Given the description of an element on the screen output the (x, y) to click on. 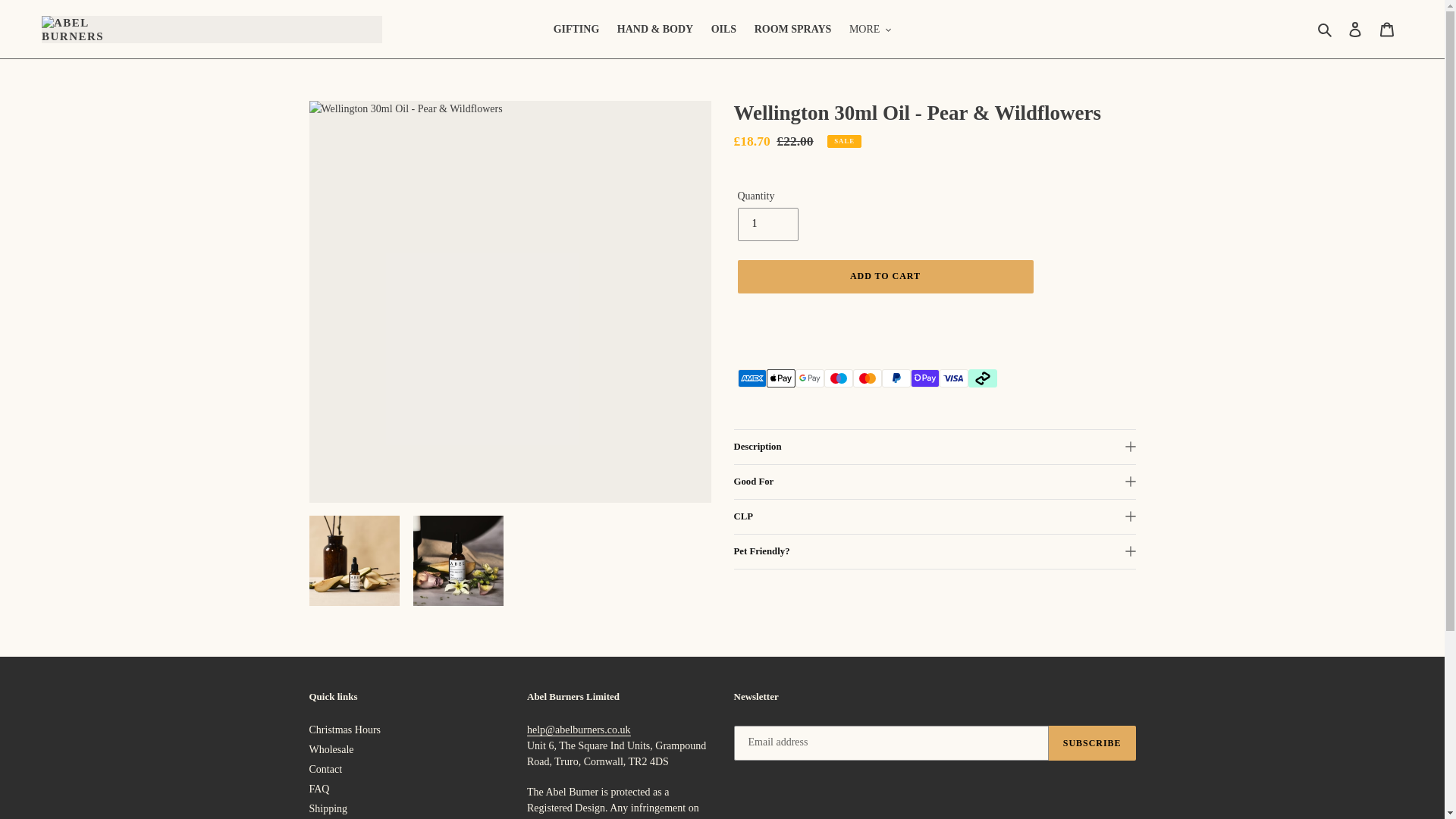
Wholesale (330, 749)
Christmas Hours (344, 729)
GIFTING (576, 28)
FAQ (319, 788)
OILS (723, 28)
ADD TO CART (884, 276)
Search (1326, 29)
Contact (325, 768)
Shipping (327, 808)
1 (766, 224)
